Given the description of an element on the screen output the (x, y) to click on. 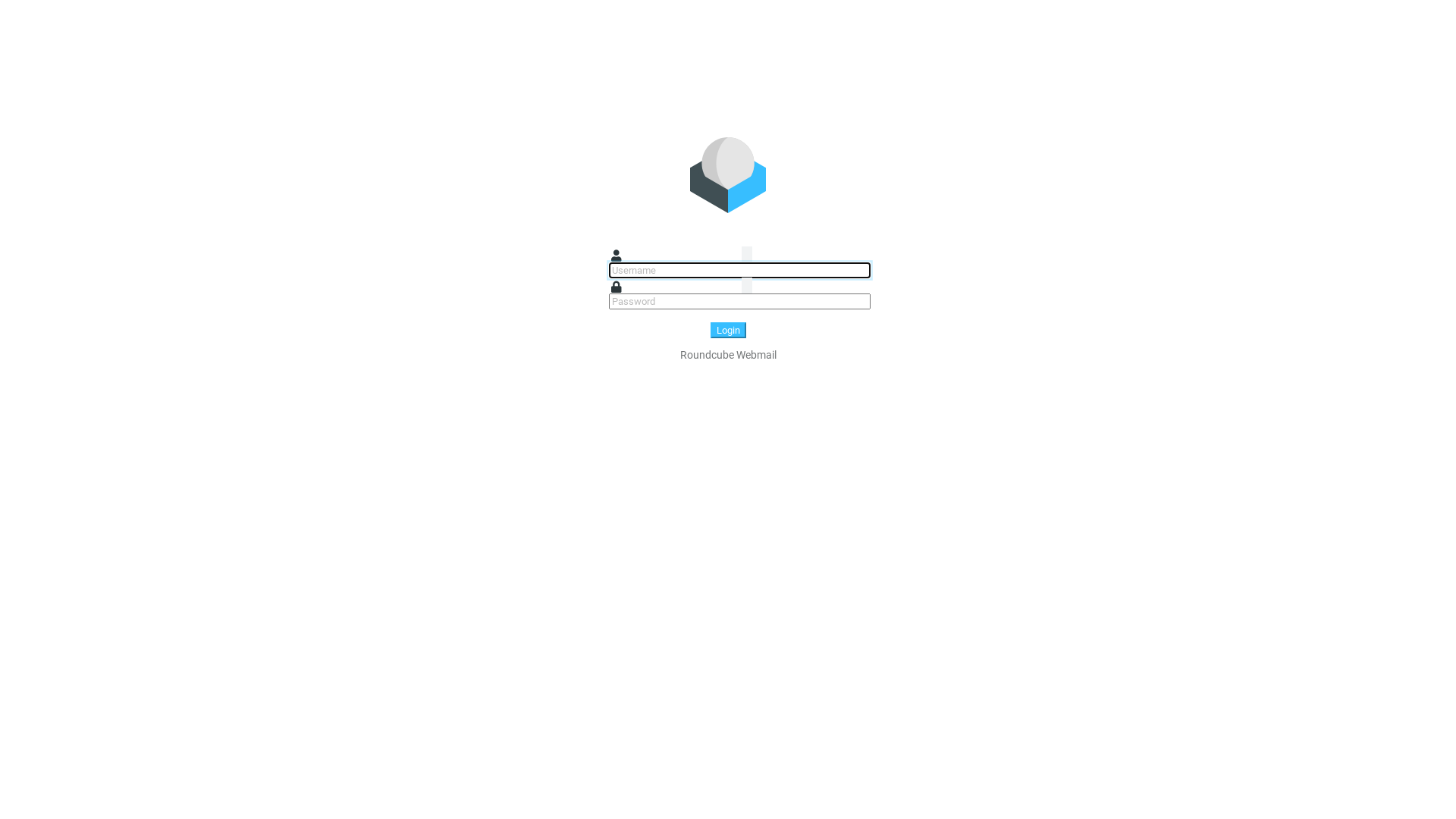
Login Element type: text (727, 330)
